Given the description of an element on the screen output the (x, y) to click on. 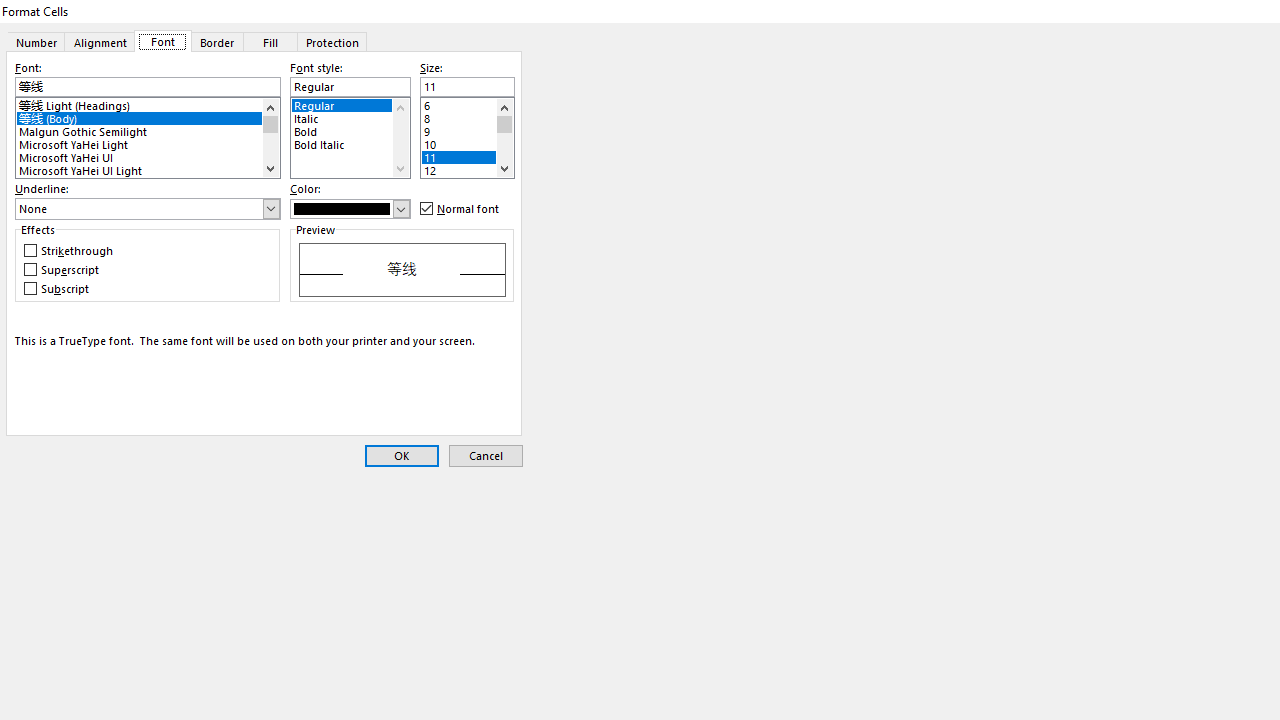
Font (162, 41)
Font style: (350, 87)
Superscript (63, 269)
Page down (504, 146)
Italic (350, 116)
OK (401, 456)
Font: (148, 87)
Border (216, 41)
Subscript (58, 288)
Bold Italic (350, 142)
AutomationID: 4670 (400, 138)
Microsoft YaHei UI (148, 155)
Underline: (148, 209)
